Given the description of an element on the screen output the (x, y) to click on. 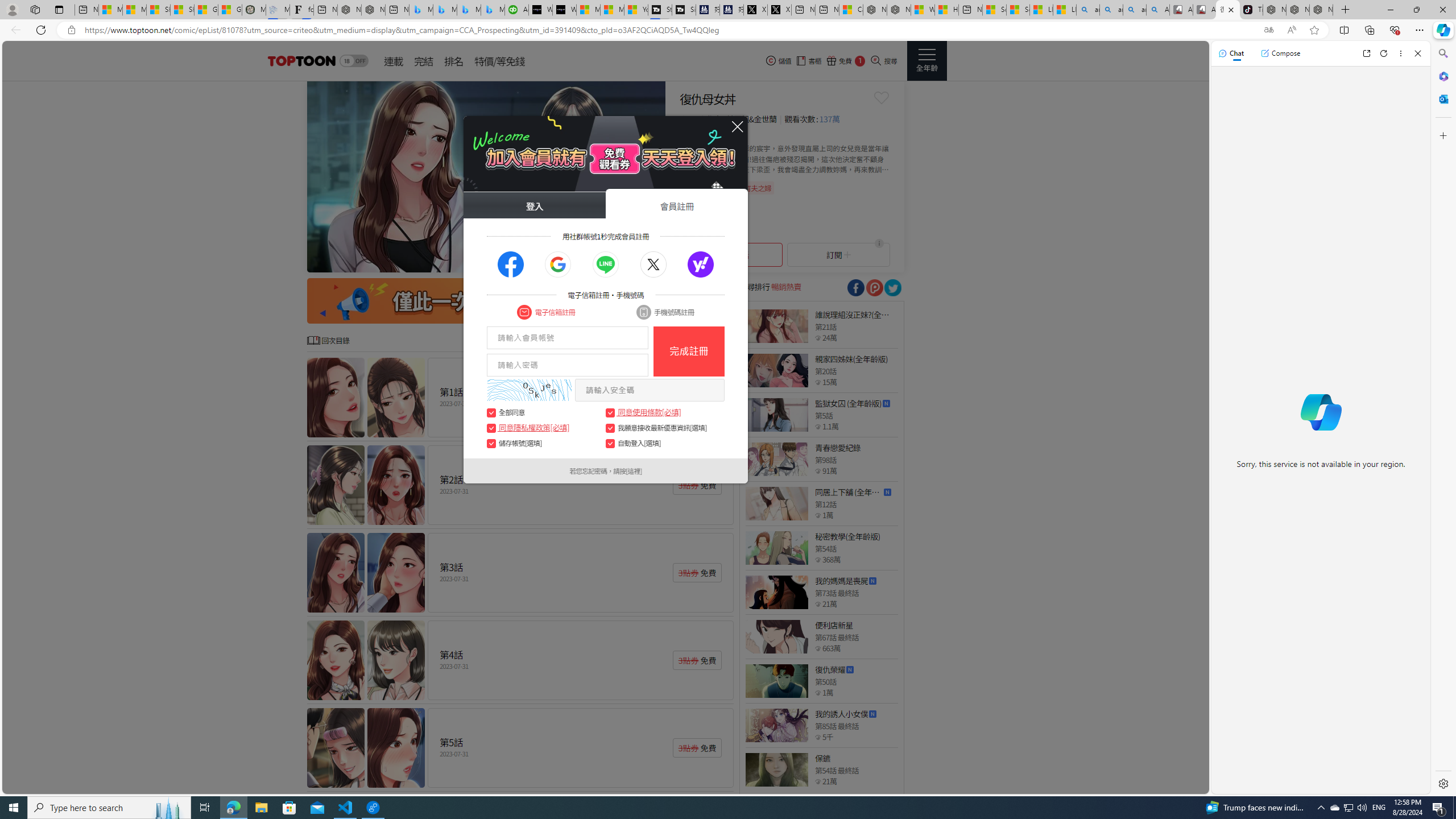
Nordace - Siena Pro 15 Essential Set (1321, 9)
amazon - Search Images (1134, 9)
Microsoft Bing Travel - Stays in Bangkok, Bangkok, Thailand (444, 9)
